Given the description of an element on the screen output the (x, y) to click on. 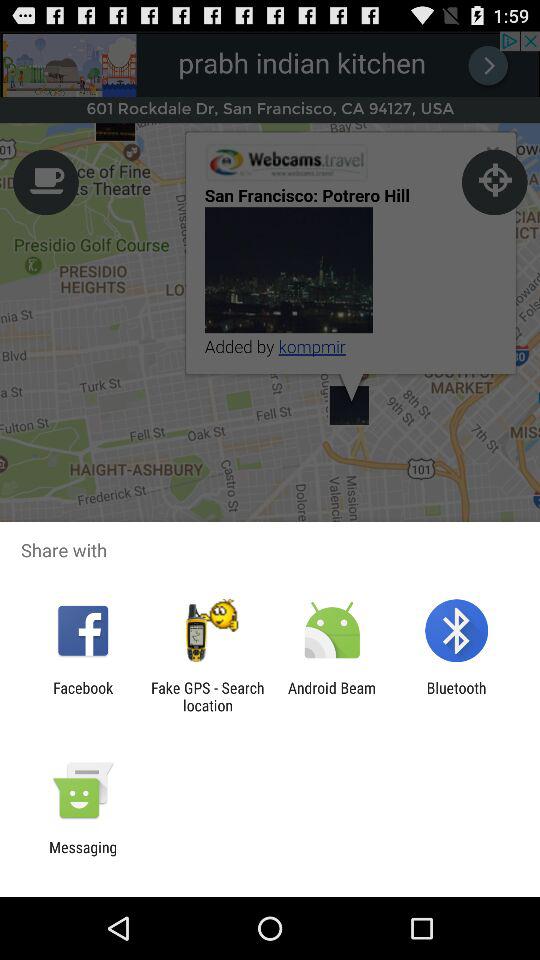
scroll until the android beam (332, 696)
